Given the description of an element on the screen output the (x, y) to click on. 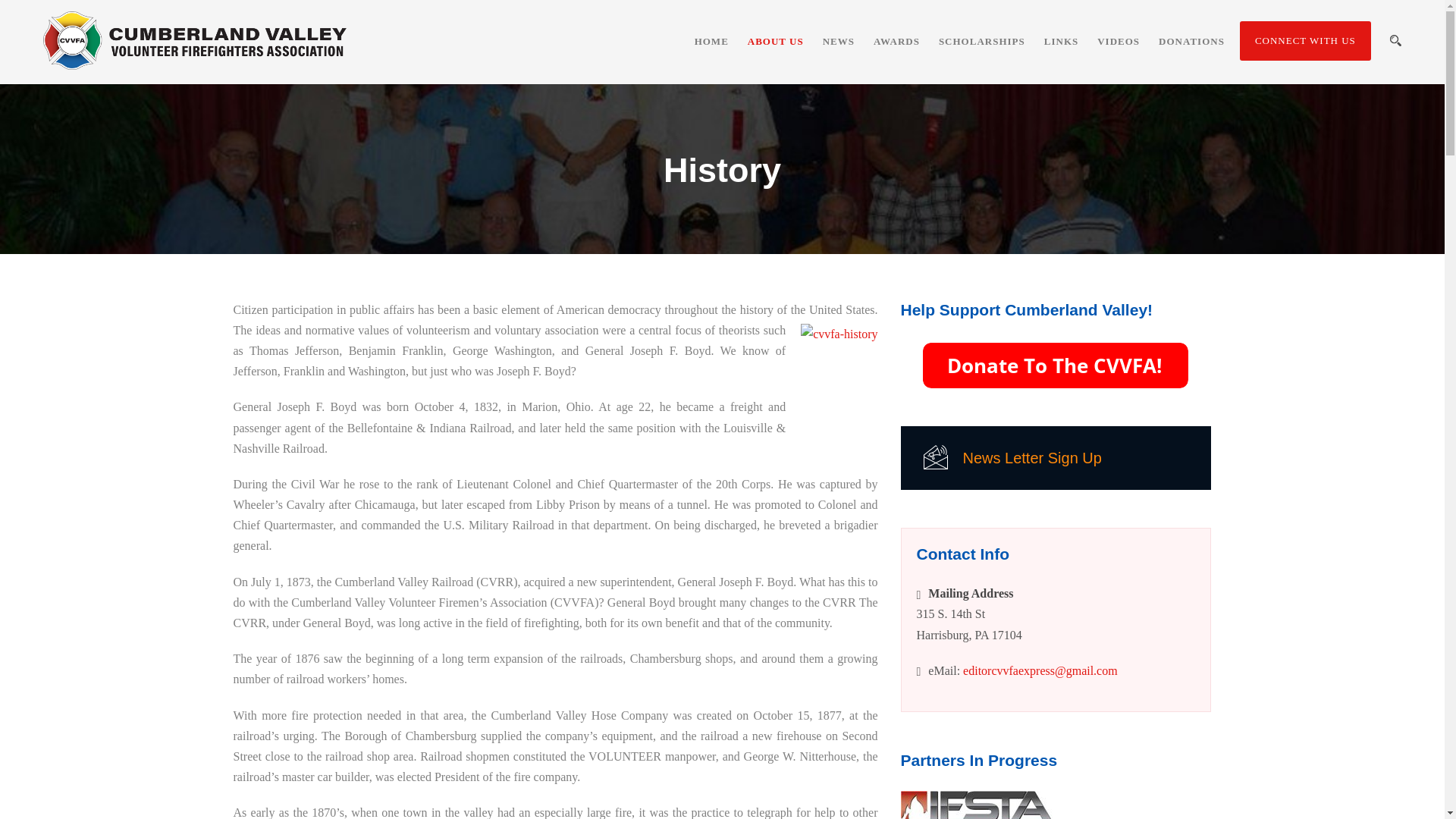
DONATIONS (1182, 58)
SCHOLARSHIPS (972, 58)
LINKS (1051, 58)
AWARDS (887, 58)
VIDEOS (1109, 58)
CONNECT WITH US (1305, 40)
ABOUT US (766, 58)
NEWS (828, 58)
